Given the description of an element on the screen output the (x, y) to click on. 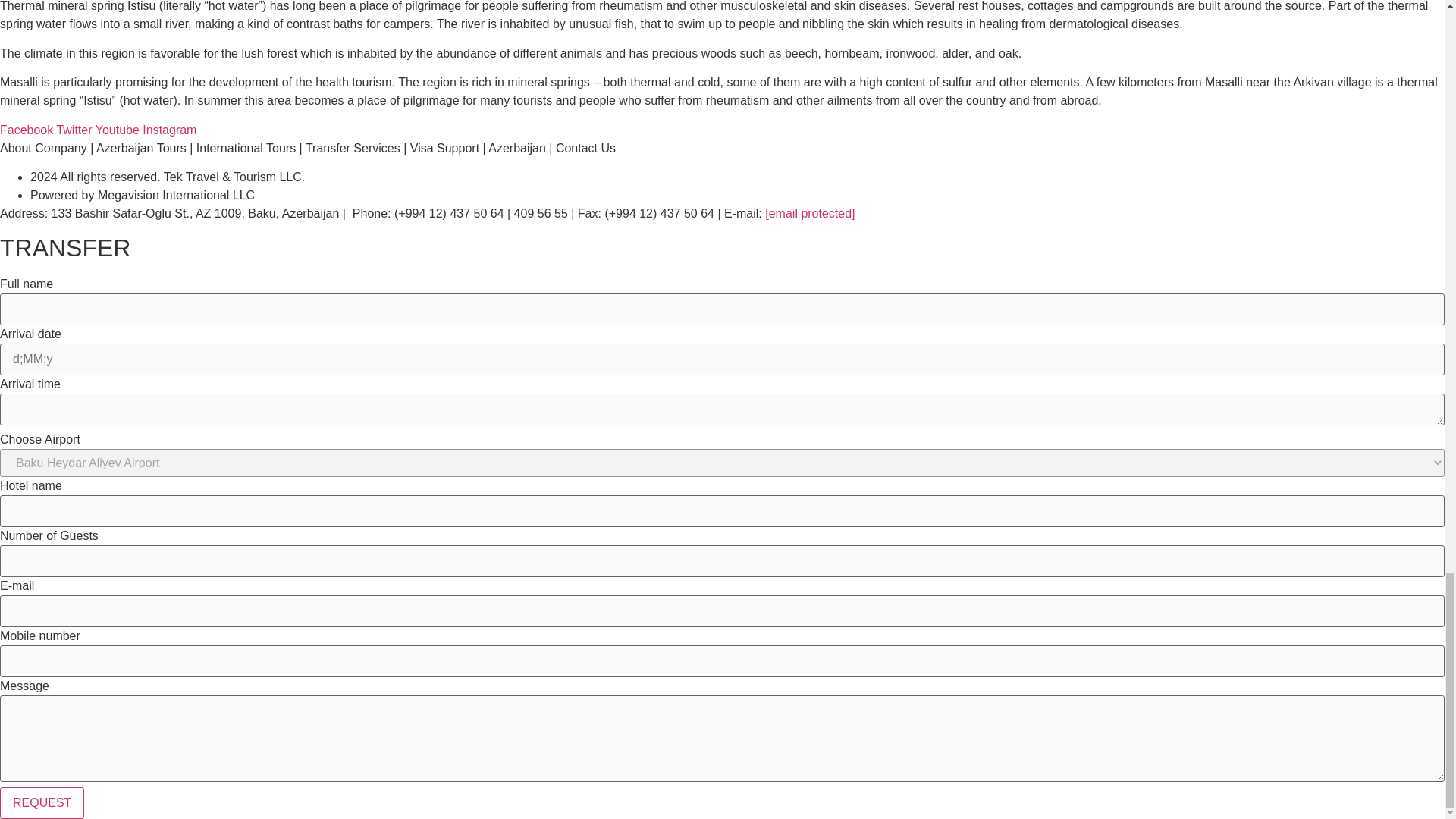
Instagram (169, 129)
Facebook (28, 129)
Twitter (75, 129)
Youtube (119, 129)
